Given the description of an element on the screen output the (x, y) to click on. 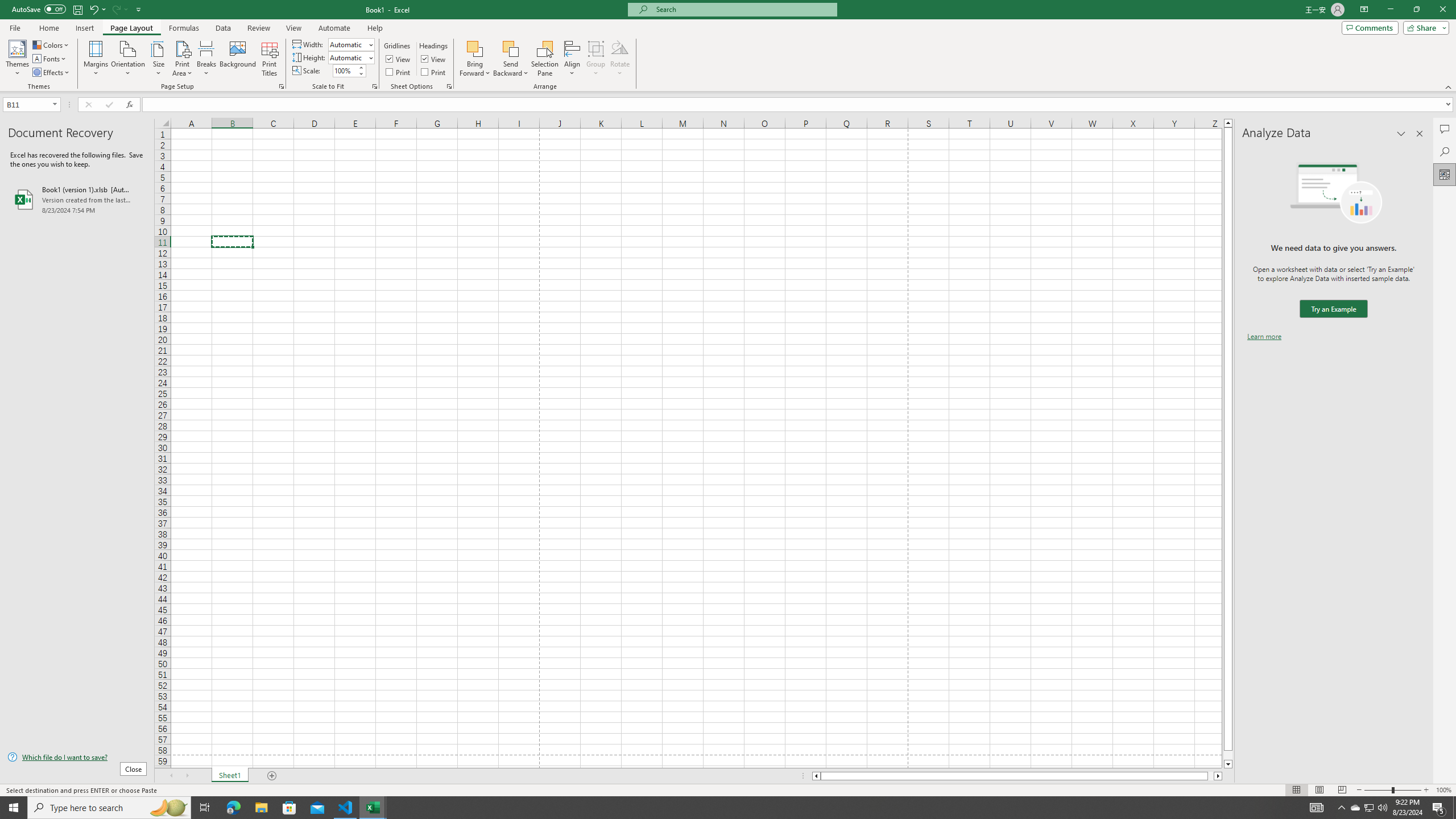
Group (595, 58)
Which file do I want to save? (77, 757)
Effects (51, 72)
Automate (334, 28)
Print Titles (269, 58)
Restore Down (1416, 9)
